Given the description of an element on the screen output the (x, y) to click on. 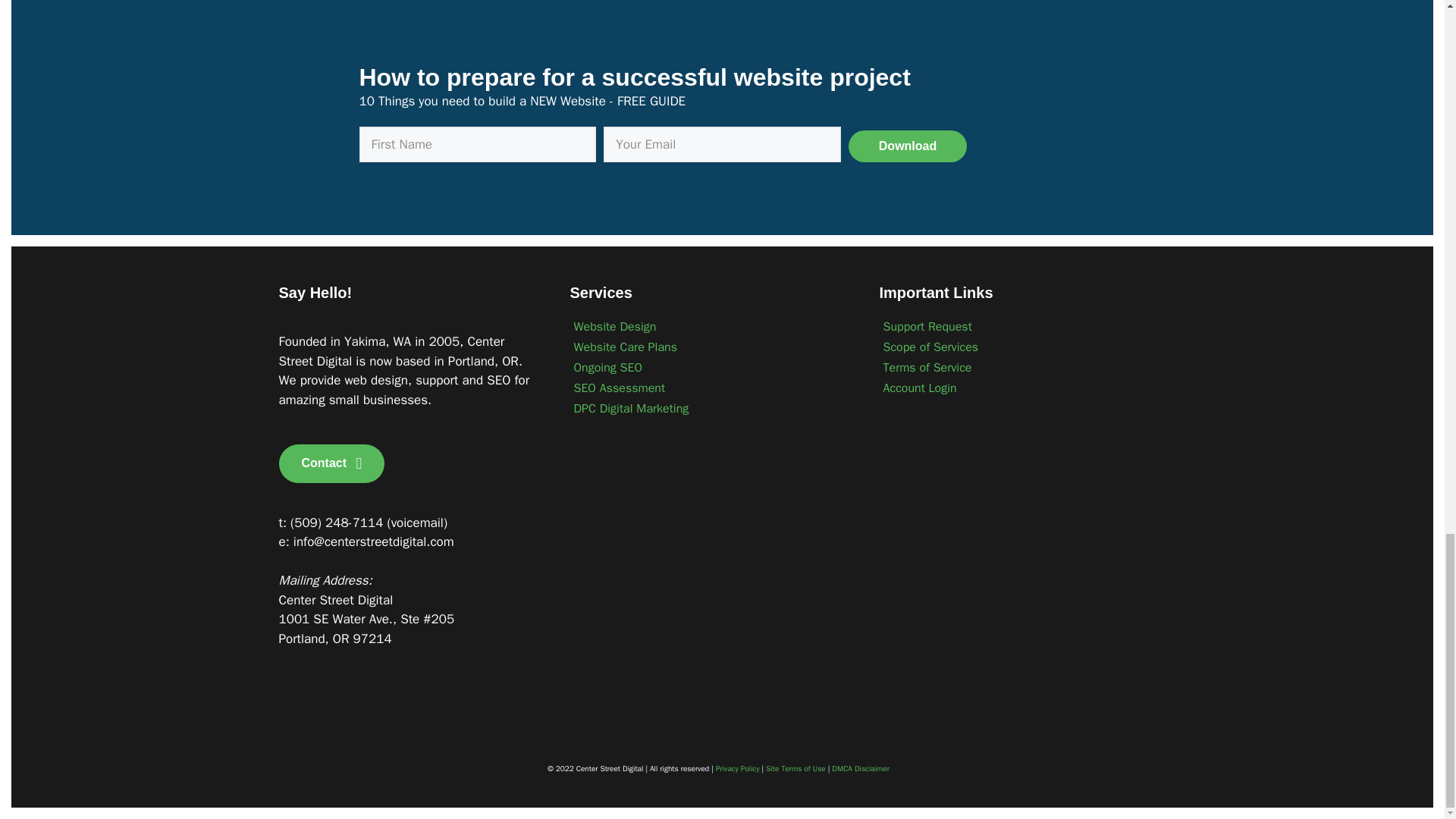
Privacy Policy (738, 768)
Ongoing SEO (709, 367)
DMCA Disclaimer (860, 768)
DPC Digital Marketing (709, 408)
SEO Assessment (709, 388)
Contact (332, 463)
Account Login (1016, 388)
Scope of Services (1016, 347)
Website Care Plans (709, 347)
Website Design (709, 326)
CenterStDigital-06 (362, 719)
Download (907, 146)
Site Terms of Use (795, 768)
Support Request (1016, 326)
Terms of Service (1016, 367)
